Given the description of an element on the screen output the (x, y) to click on. 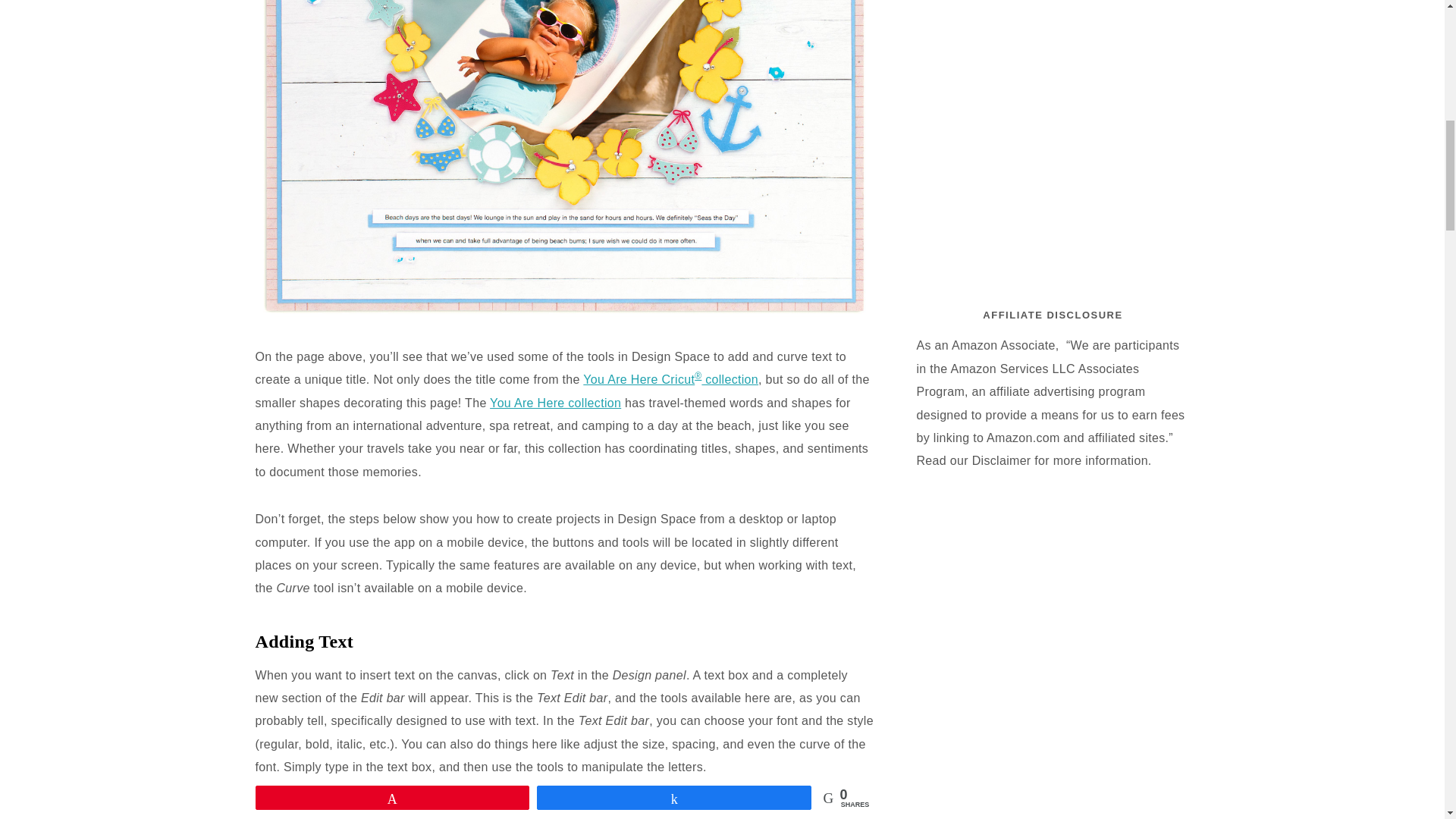
 collection (729, 379)
You Are Here collection (555, 402)
You Are Here Cricut (638, 379)
